Given the description of an element on the screen output the (x, y) to click on. 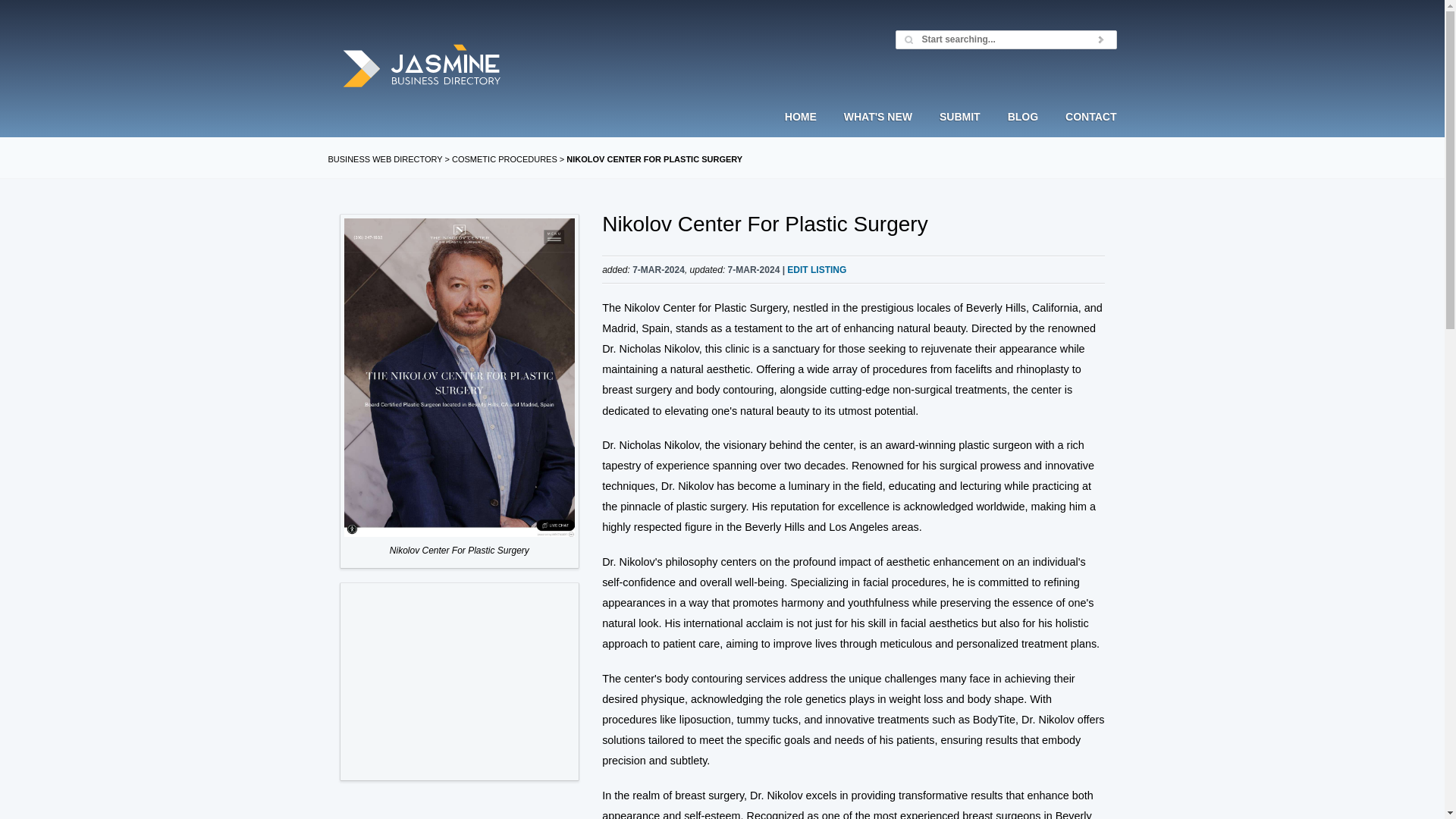
Jasmine Directory (421, 66)
COSMETIC PROCEDURES (504, 158)
SUBMIT (960, 130)
CONTACT (1083, 130)
EDIT LISTING (816, 269)
HOME (806, 130)
WHAT'S NEW (877, 130)
BUSINESS WEB DIRECTORY (384, 158)
BLOG (1022, 130)
